Given the description of an element on the screen output the (x, y) to click on. 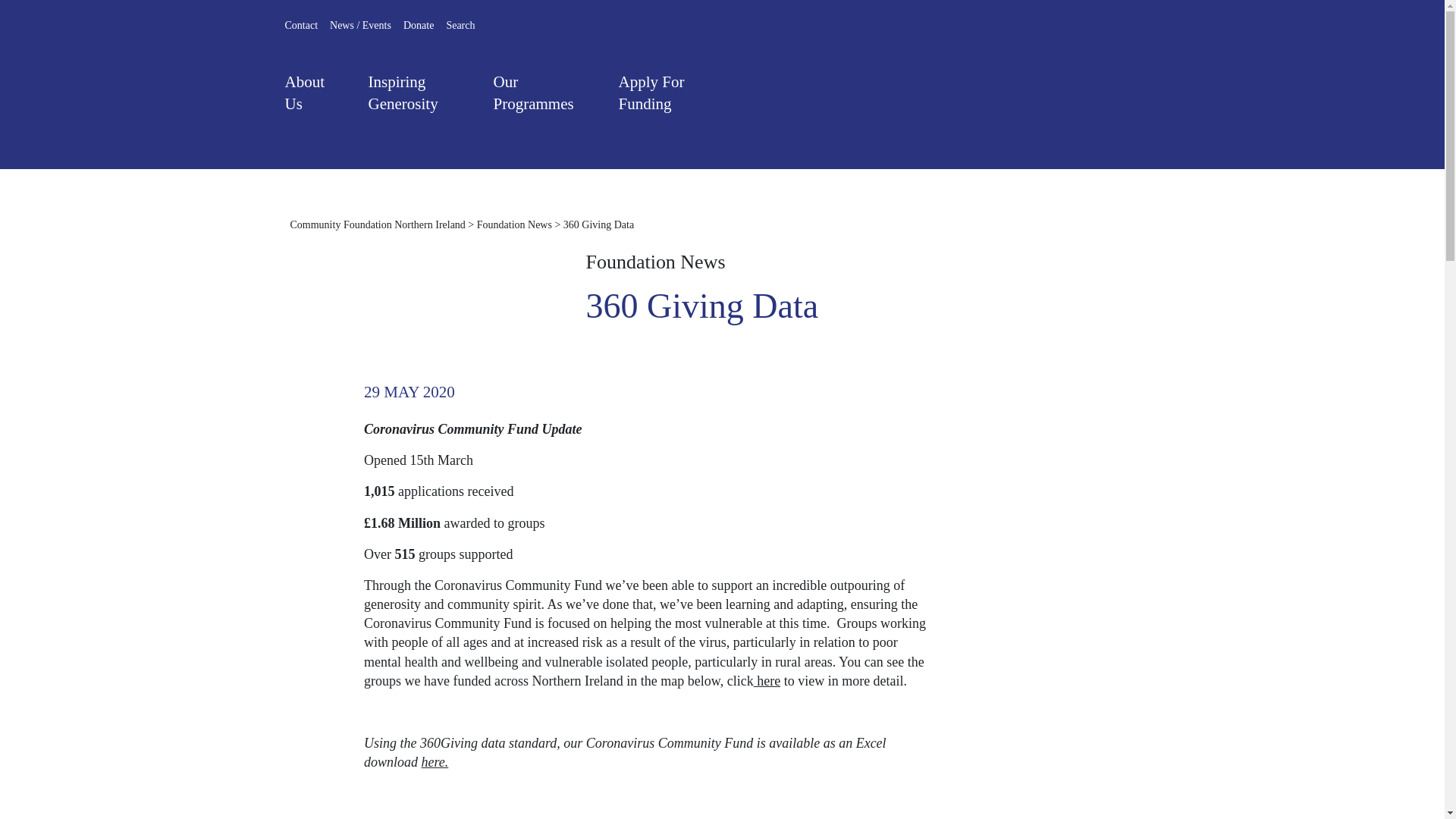
Inspiring Generosity (416, 98)
About Us (313, 98)
Go to Community Foundation Northern Ireland. (376, 224)
Our Programmes (541, 93)
Contact (301, 25)
Apply For Funding (667, 98)
Go to the Foundation News category archives. (514, 224)
Donate (418, 25)
